Given the description of an element on the screen output the (x, y) to click on. 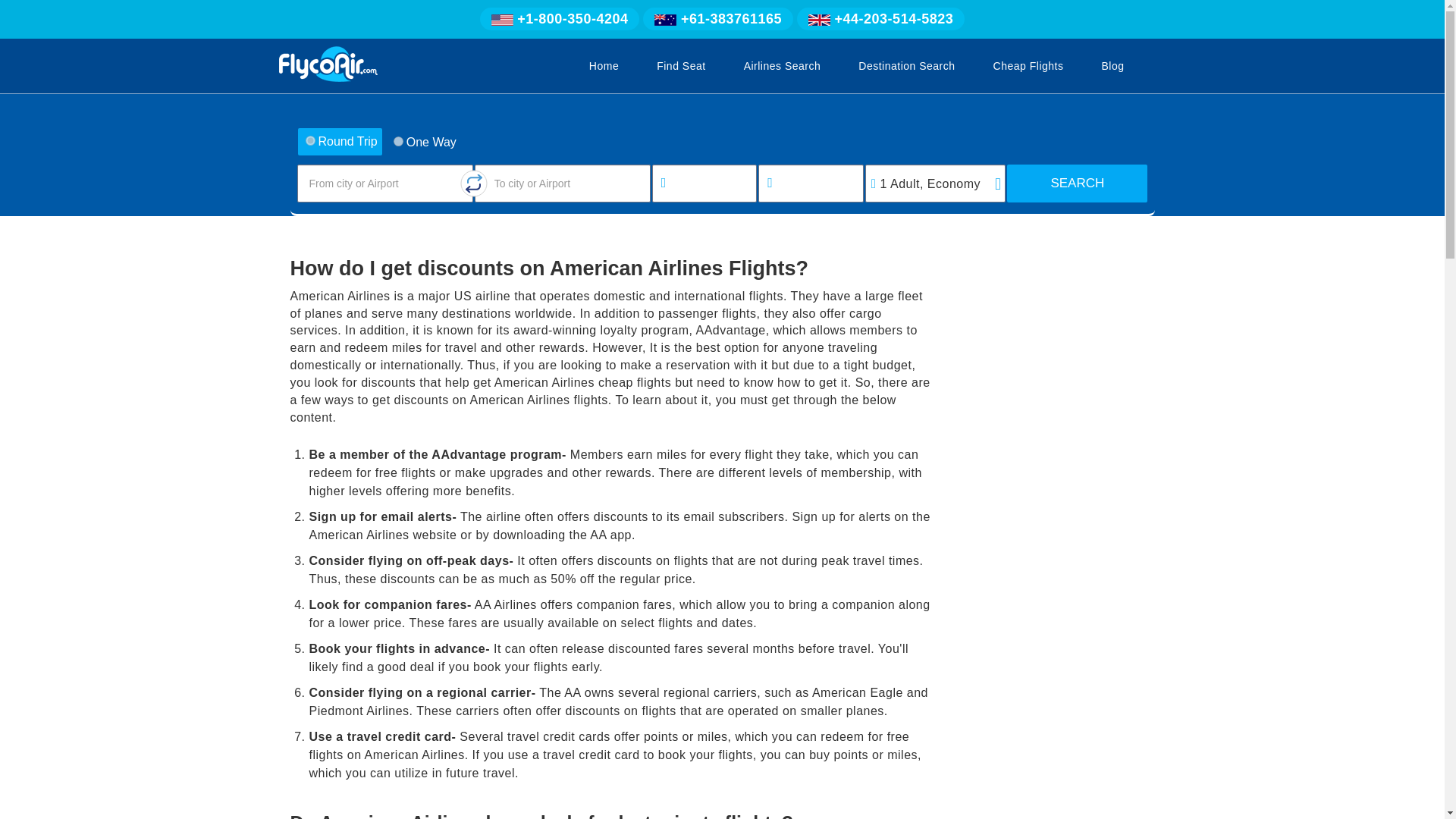
1 (398, 141)
Destination Search (906, 65)
Home (603, 65)
SEARCH (1077, 183)
Airlines Search (782, 65)
0 (309, 140)
Blog (1112, 65)
Cheap Flights (1028, 65)
Find Seat (681, 65)
